Given the description of an element on the screen output the (x, y) to click on. 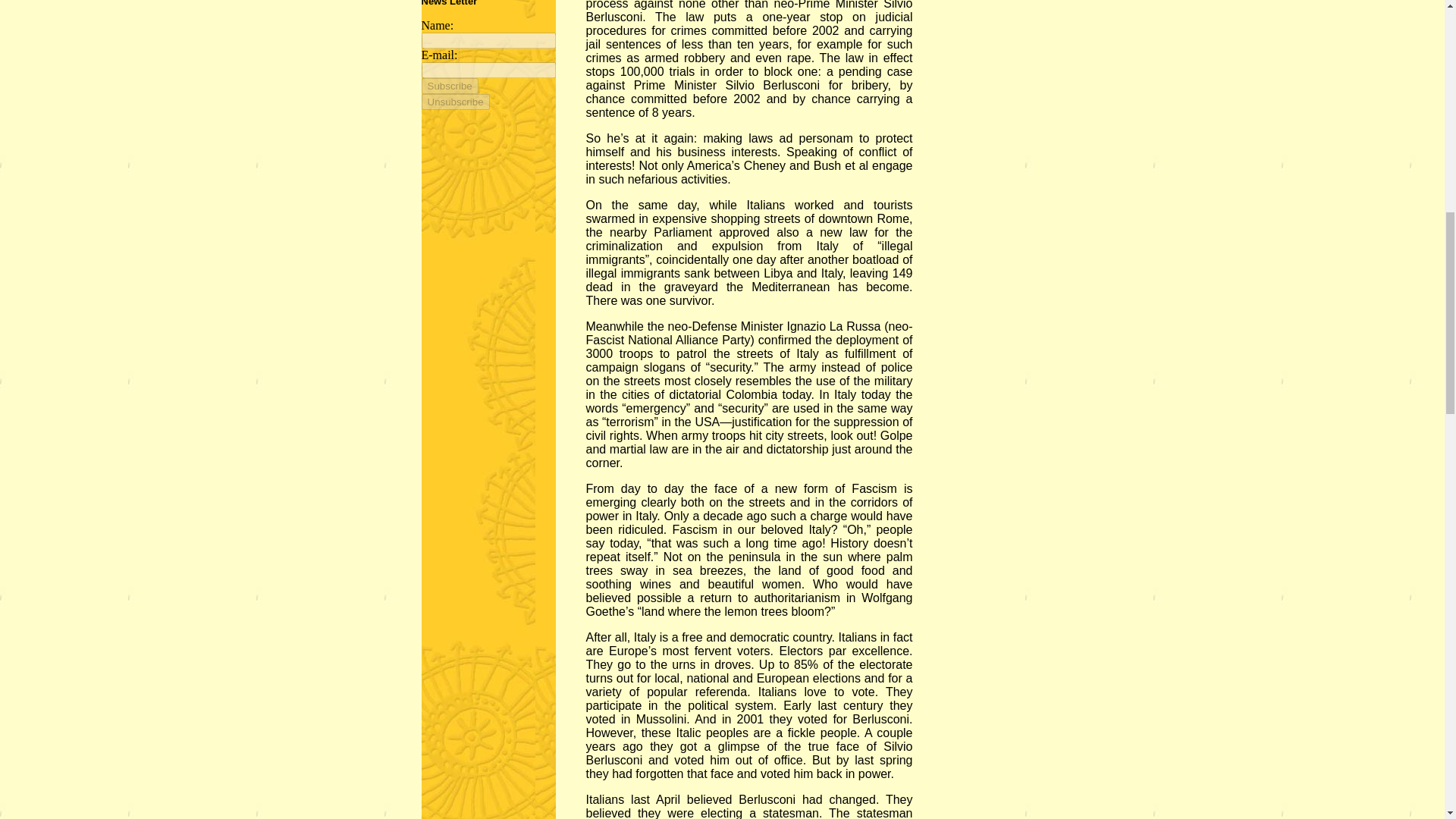
Unsubscribe (462, 3)
Subscribe (455, 101)
Subscribe (450, 85)
Unsubscribe (450, 85)
